Given the description of an element on the screen output the (x, y) to click on. 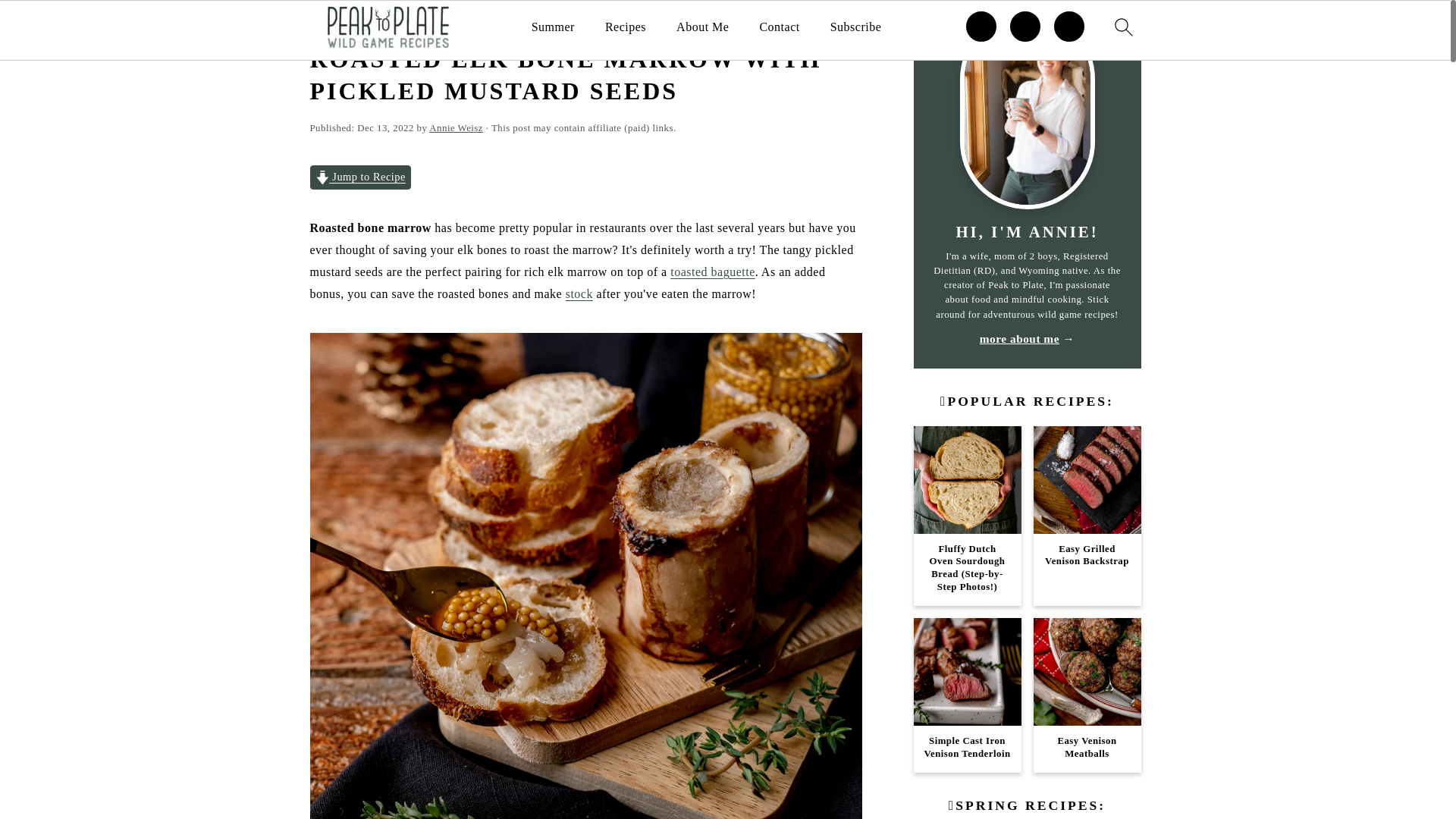
Elk (426, 23)
Peak to Plate (336, 23)
Recipes (392, 23)
stock (579, 293)
Contact (778, 26)
Annie Weisz (456, 127)
search icon (1122, 26)
Summer (553, 26)
toasted baguette (712, 271)
